Given the description of an element on the screen output the (x, y) to click on. 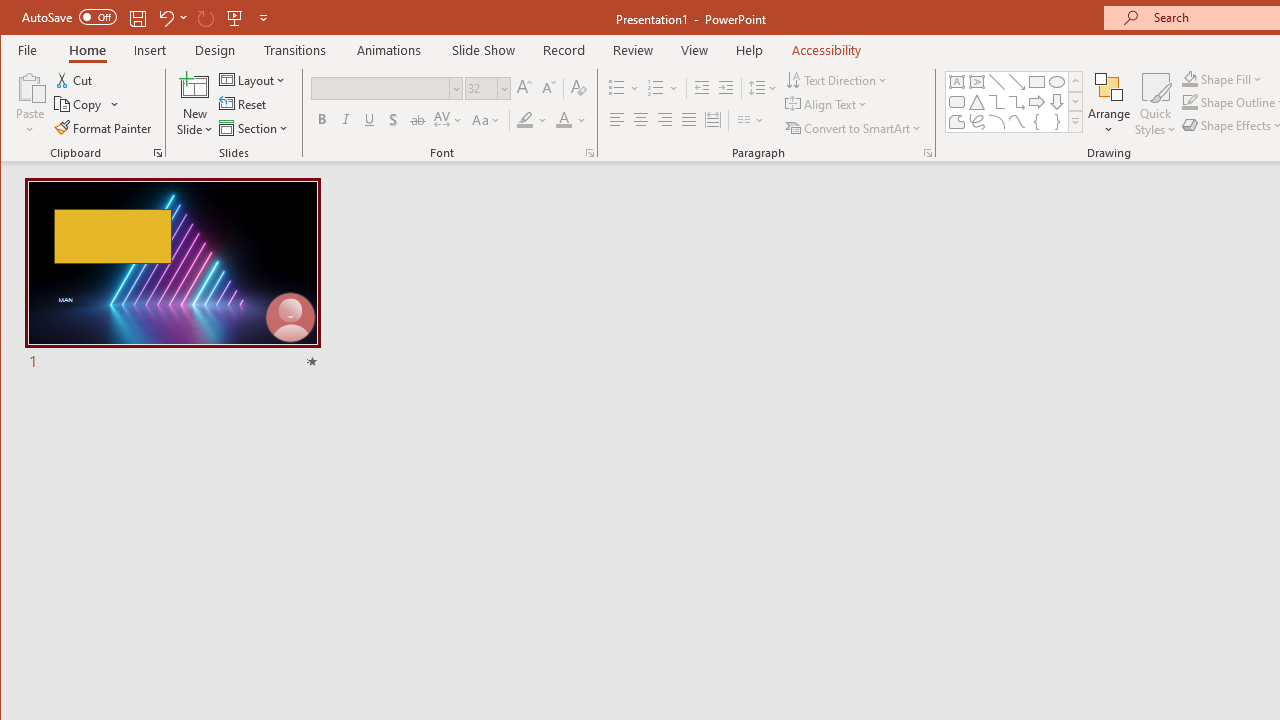
Line Arrow (1016, 82)
Justify (689, 119)
Format Painter (104, 127)
Shadow (393, 119)
AutomationID: ShapesInsertGallery (1014, 102)
Decrease Indent (701, 88)
Connector: Elbow Arrow (1016, 102)
Line (996, 82)
Oval (1057, 82)
